Given the description of an element on the screen output the (x, y) to click on. 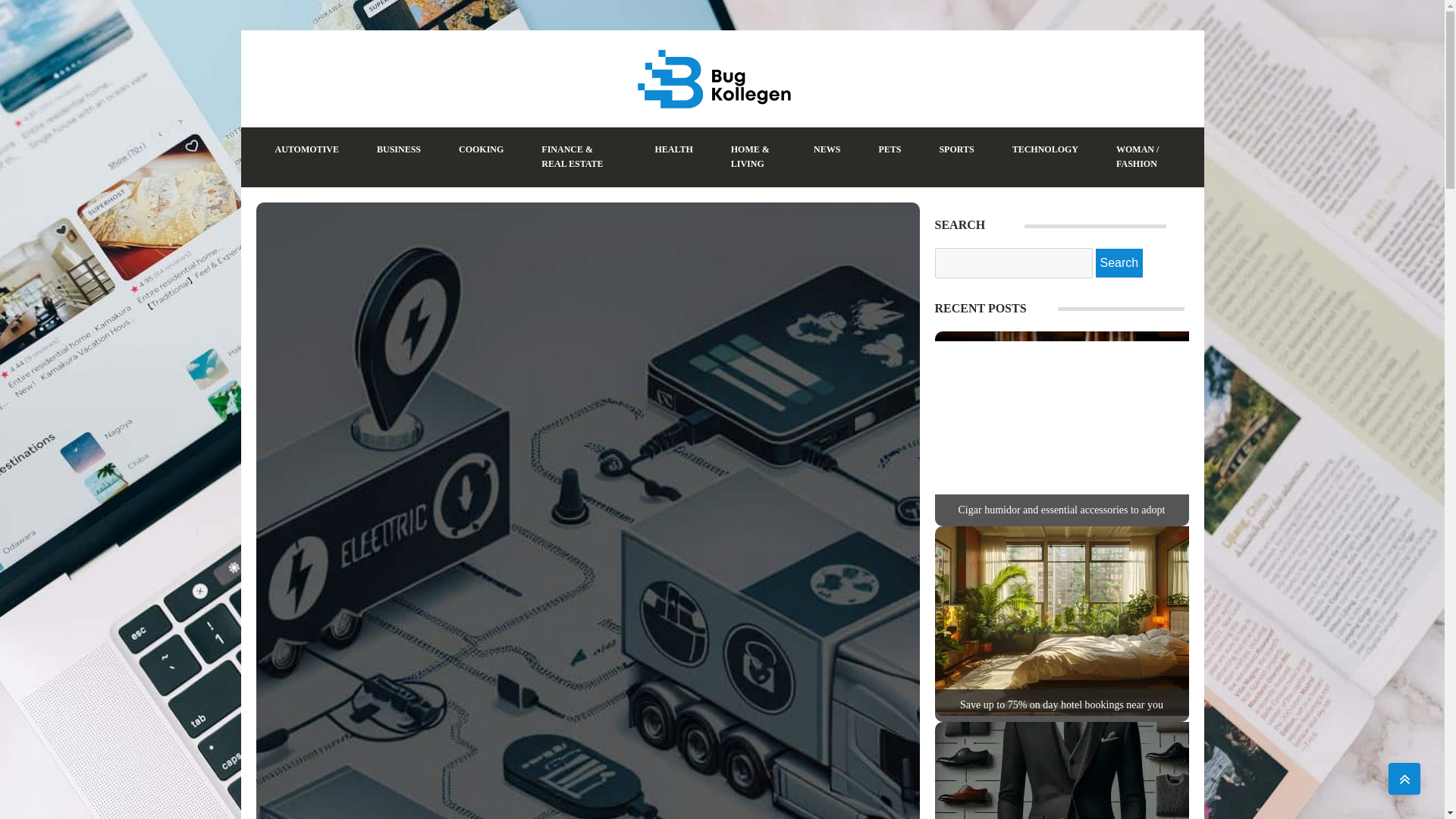
BUSINESS (398, 149)
COOKING (480, 149)
SPORTS (956, 149)
PETS (889, 149)
HEALTH (672, 149)
NEWS (826, 149)
AUTOMOTIVE (307, 149)
